Given the description of an element on the screen output the (x, y) to click on. 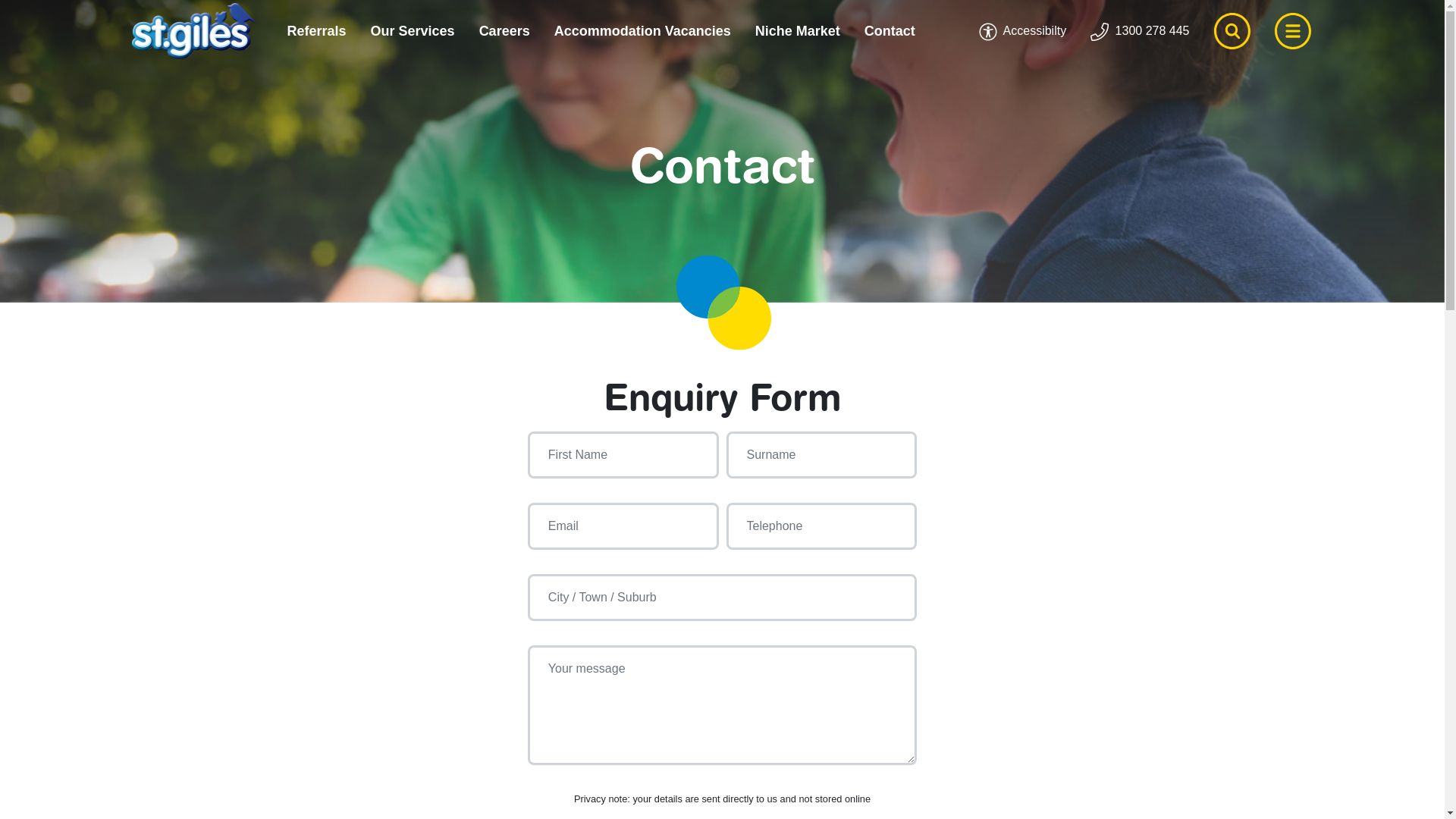
Our Services Element type: text (412, 31)
1300 278 445 Element type: text (1139, 31)
Careers Element type: text (504, 31)
Contact Element type: text (889, 31)
Referrals Element type: text (315, 31)
Accessibilty Element type: text (1022, 31)
Niche Market Element type: text (797, 31)
Accommodation Vacancies Element type: text (642, 31)
